Given the description of an element on the screen output the (x, y) to click on. 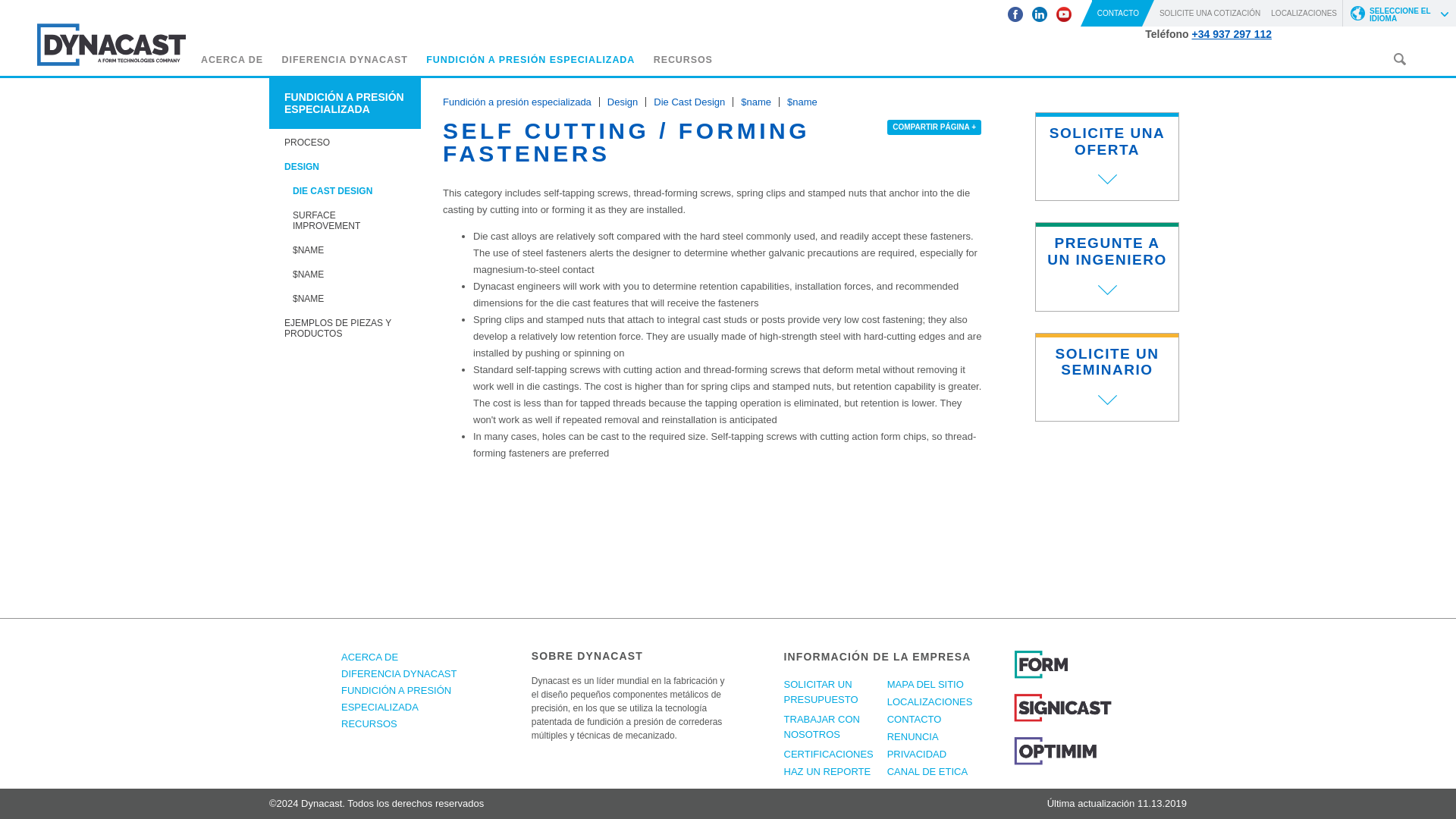
Contacto (1123, 13)
CONTACTO (1123, 13)
LOCALIZACIONES (1303, 13)
RECURSOS (683, 61)
Signicast (1062, 718)
Youtube (1064, 14)
OptiMIM (1062, 762)
Form Technologies (1062, 675)
facebook (1015, 14)
Linkedin (1039, 14)
